Given the description of an element on the screen output the (x, y) to click on. 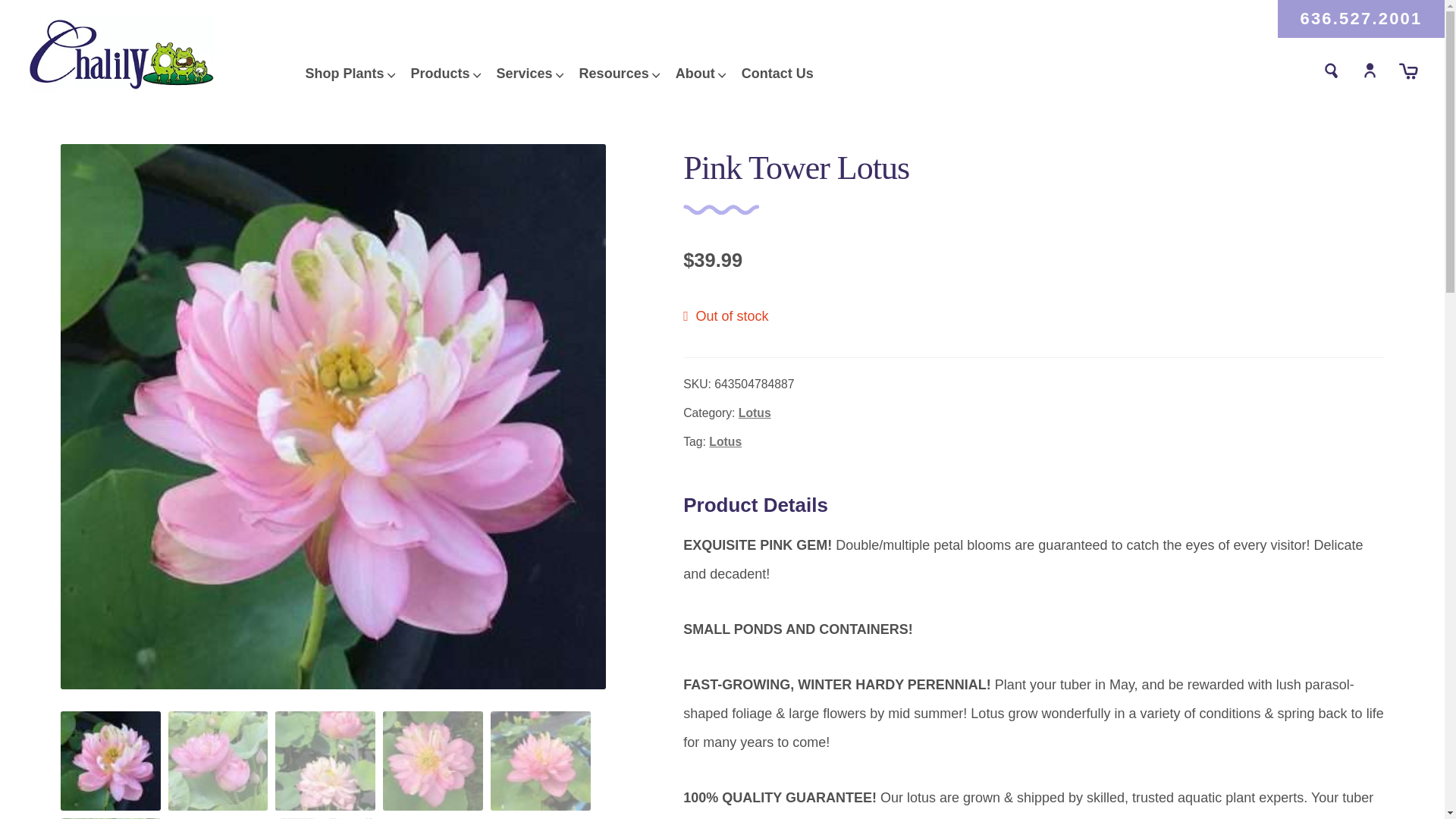
Contact Us (777, 73)
About (694, 73)
Shop Plants (344, 73)
Products (440, 73)
Resources (614, 73)
Services (524, 73)
Cart (1408, 71)
